Given the description of an element on the screen output the (x, y) to click on. 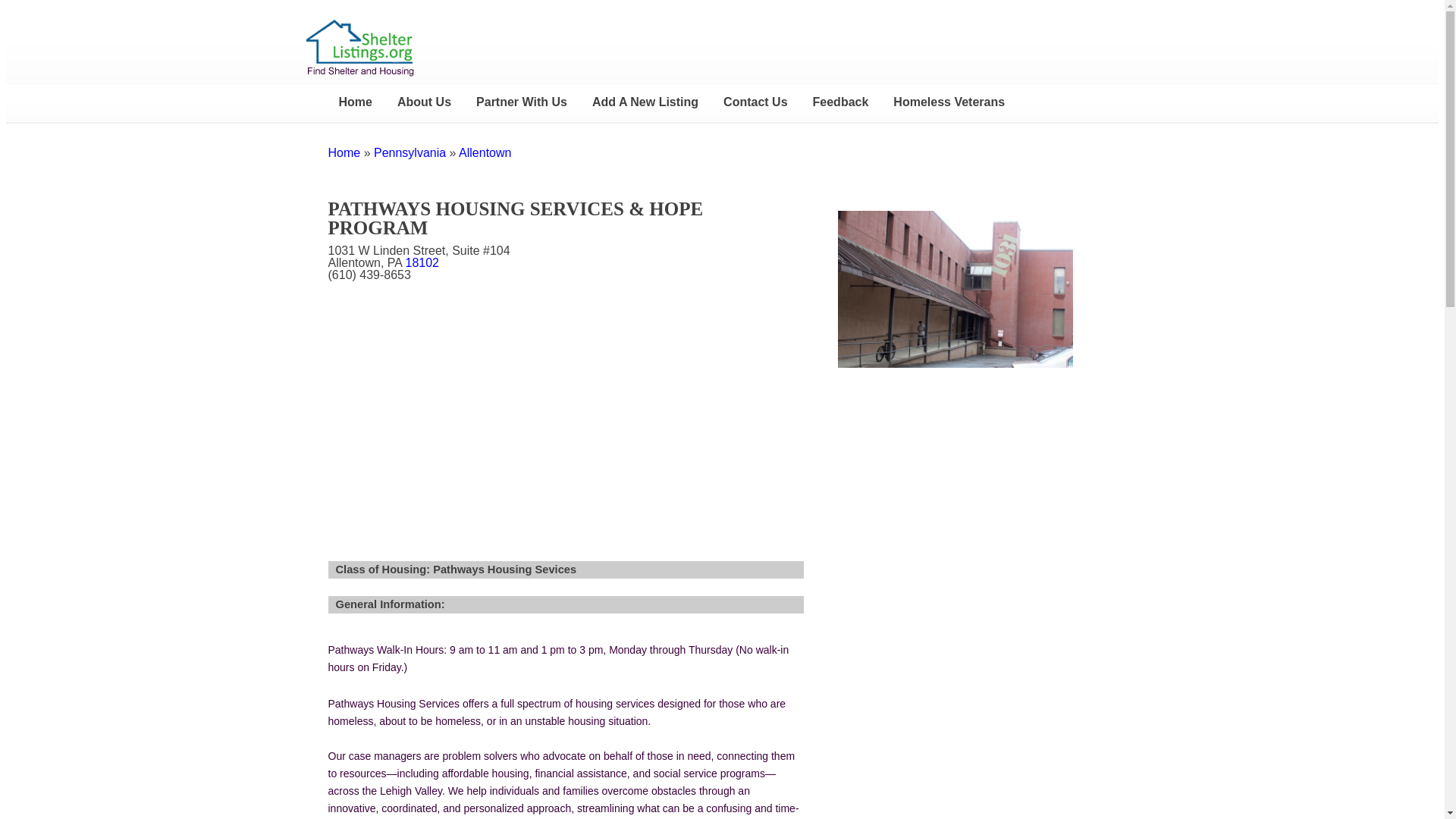
Home (354, 102)
Pennsylvania (409, 152)
Partner With Us (521, 102)
Contact Us (755, 102)
Shelters (343, 152)
Allentown (484, 152)
Homeless Veterans (948, 102)
18102 (421, 262)
Feedback (840, 102)
